Given the description of an element on the screen output the (x, y) to click on. 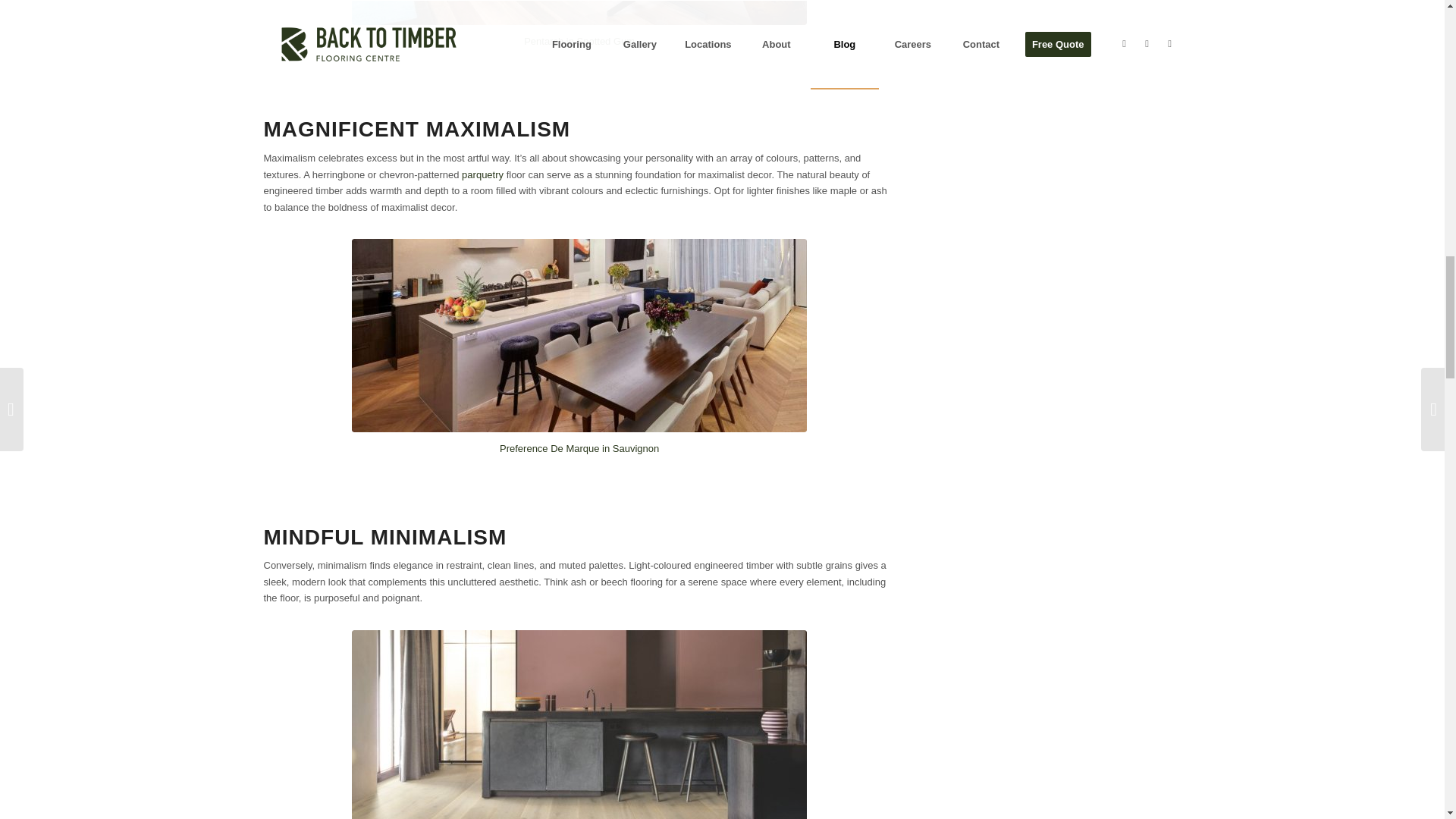
Magnificent Maximalism (579, 335)
Mindful Minimalism (579, 724)
Traditional Charm (579, 12)
